Given the description of an element on the screen output the (x, y) to click on. 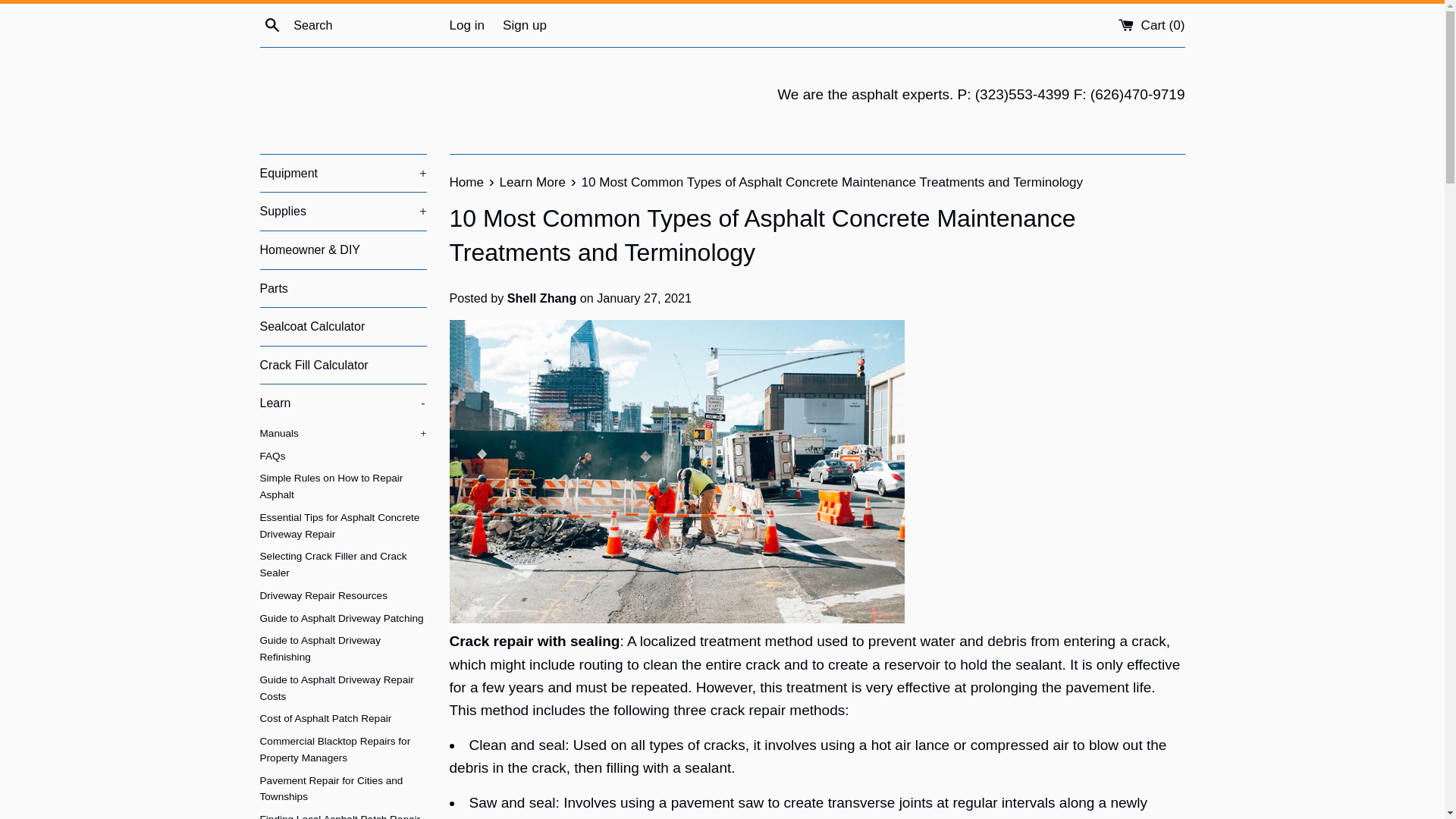
Essential Tips for Asphalt Concrete Driveway Repair (342, 526)
Parts (342, 288)
Search (271, 24)
Cost of Asphalt Patch Repair (342, 718)
Selecting Crack Filler and Crack Sealer (342, 564)
Pavement Repair for Cities and Townships (342, 789)
Log in (466, 25)
Commercial Blacktop Repairs for Property Managers (342, 749)
Crack Fill Calculator (342, 365)
Sign up (524, 25)
